Given the description of an element on the screen output the (x, y) to click on. 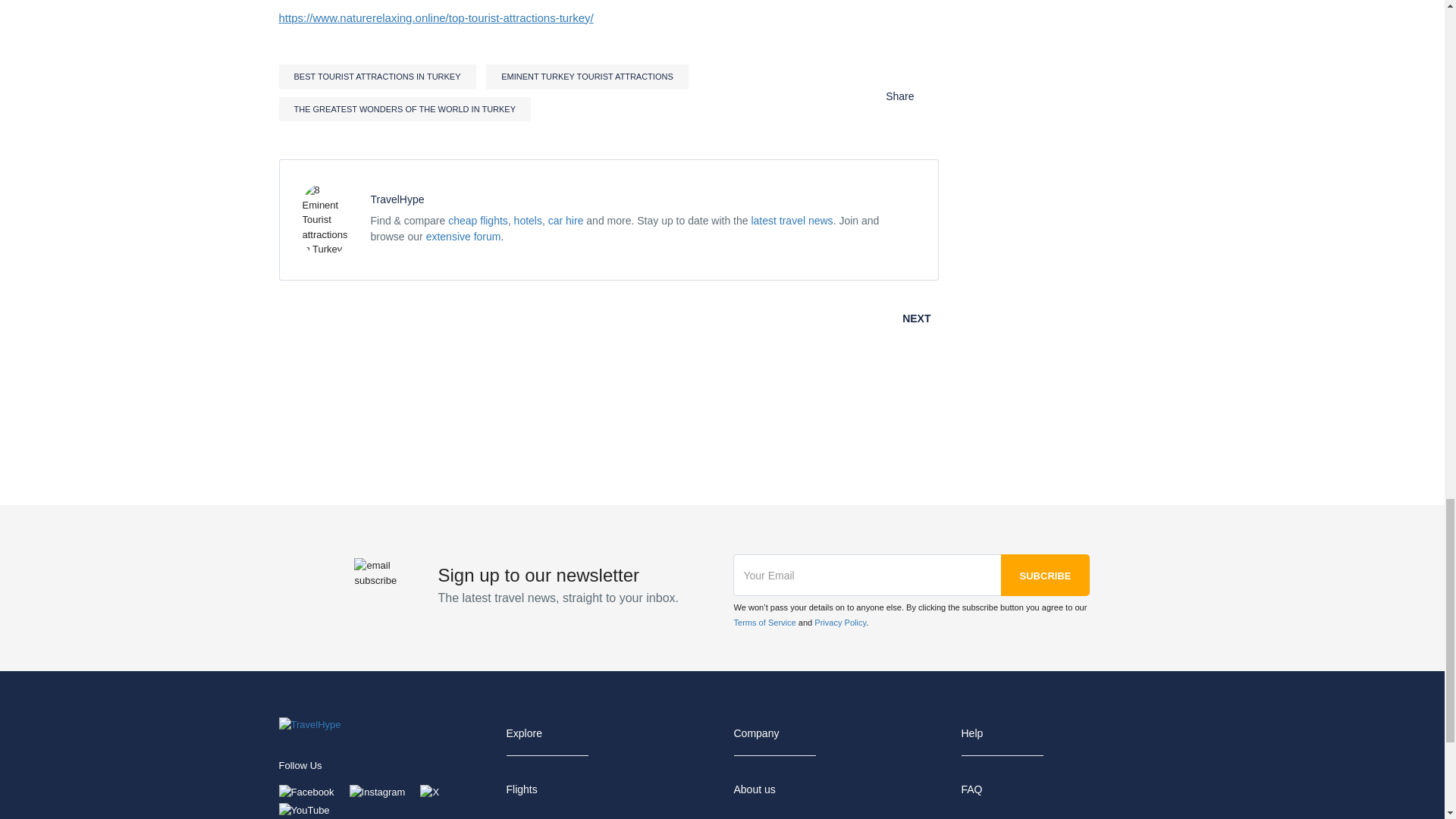
EMINENT TURKEY TOURIST ATTRACTIONS (587, 76)
car hire (565, 220)
cheap flights (478, 220)
latest travel news (791, 220)
BEST TOURIST ATTRACTIONS IN TURKEY (377, 76)
Subcribe (1045, 575)
THE GREATEST WONDERS OF THE WORLD IN TURKEY (405, 109)
extensive forum (463, 236)
hotels (527, 220)
NEXT (919, 318)
